Given the description of an element on the screen output the (x, y) to click on. 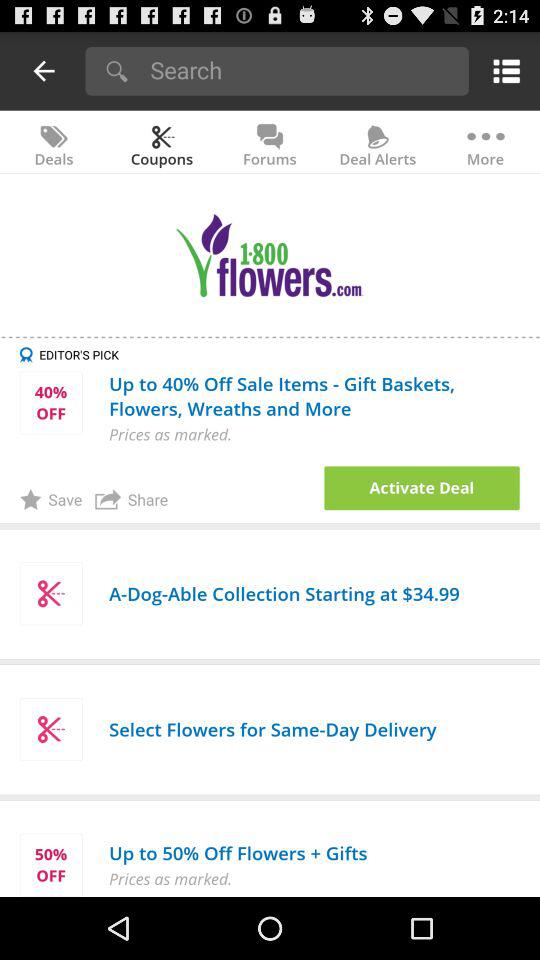
go back (44, 70)
